Given the description of an element on the screen output the (x, y) to click on. 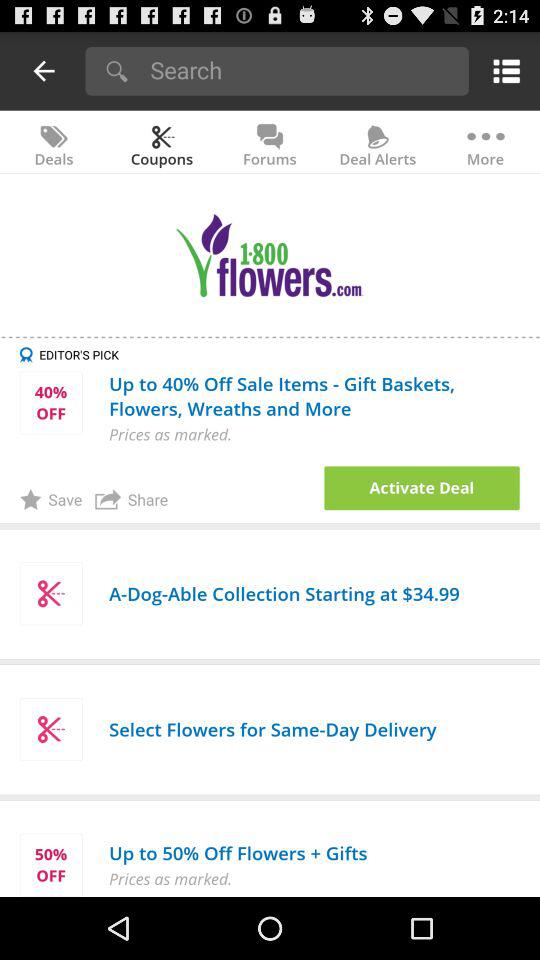
go back (44, 70)
